Given the description of an element on the screen output the (x, y) to click on. 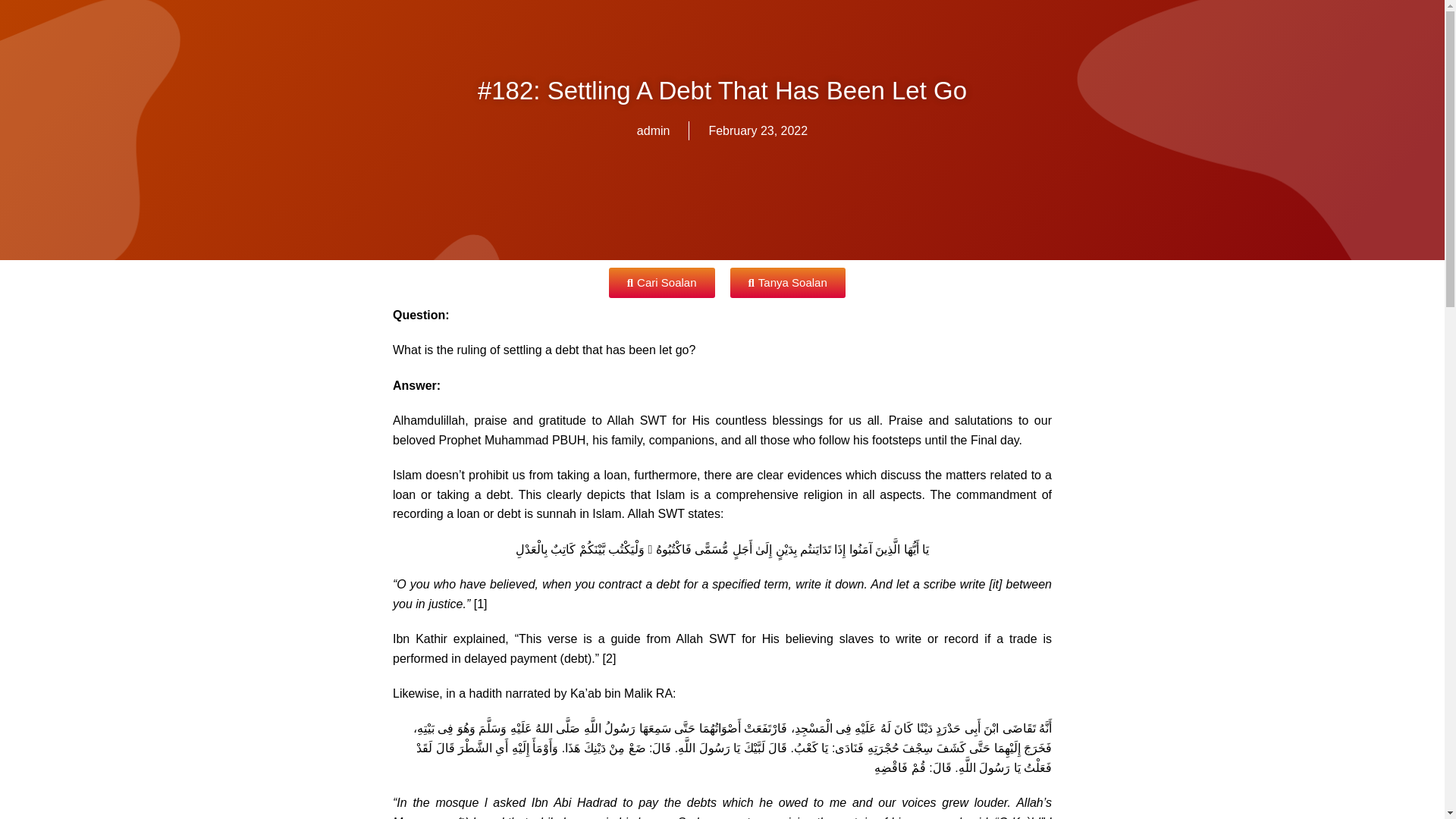
admin (653, 130)
February 23, 2022 (757, 130)
Tanya Soalan (786, 282)
Cari Soalan (661, 282)
